Given the description of an element on the screen output the (x, y) to click on. 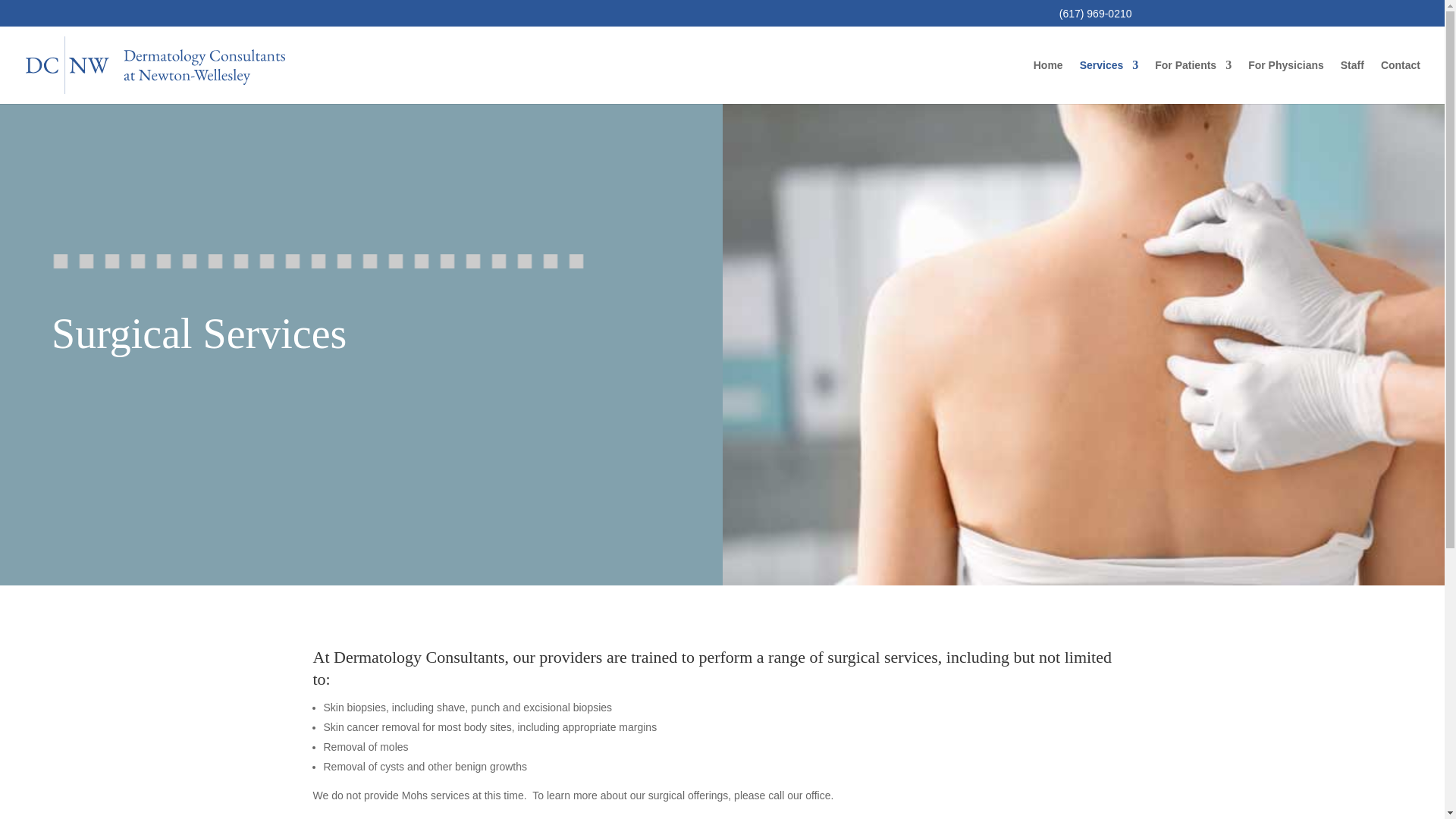
For Physicians (1285, 81)
For Patients (1192, 81)
Contact (1400, 81)
Services (1109, 81)
